Given the description of an element on the screen output the (x, y) to click on. 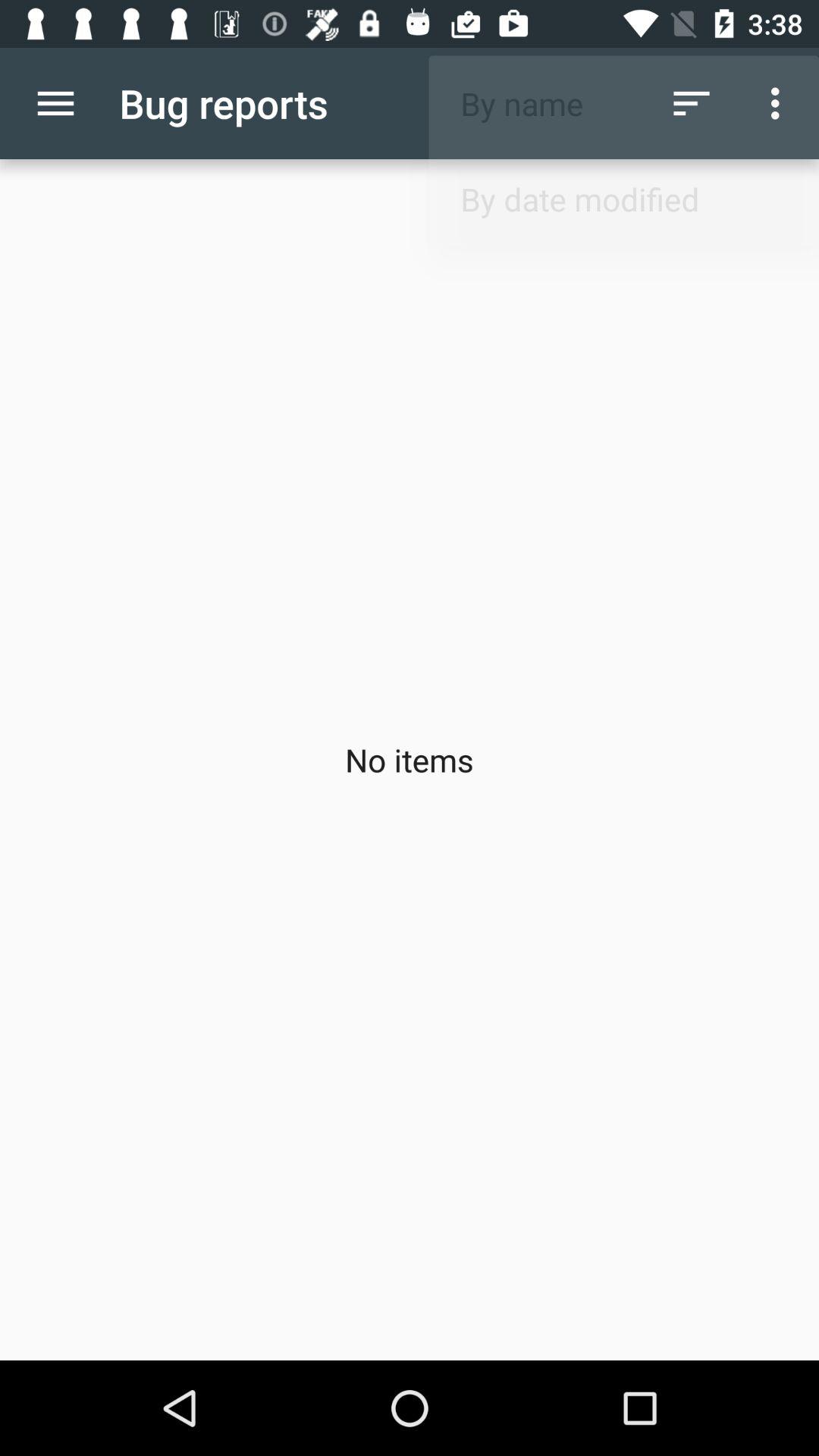
select app next to bug reports item (55, 103)
